Given the description of an element on the screen output the (x, y) to click on. 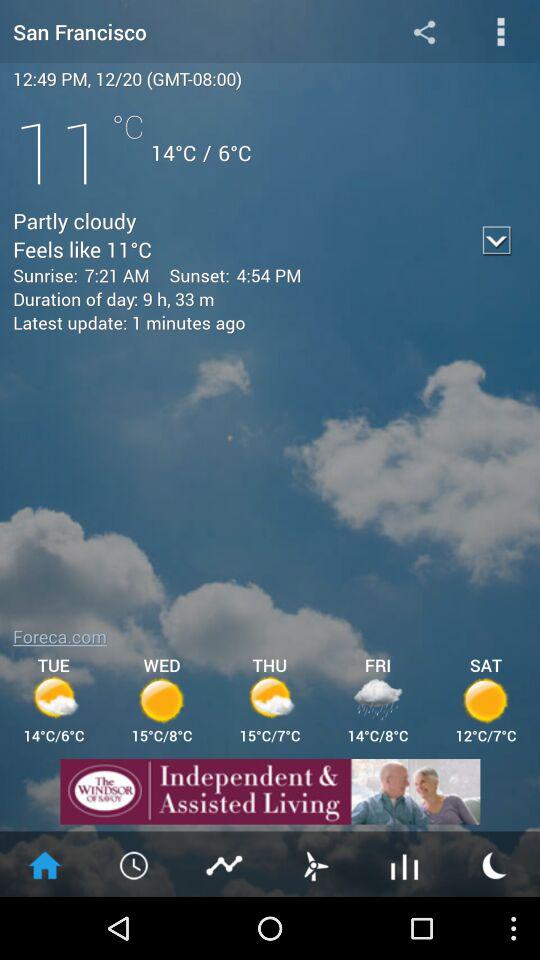
see share (225, 864)
